Given the description of an element on the screen output the (x, y) to click on. 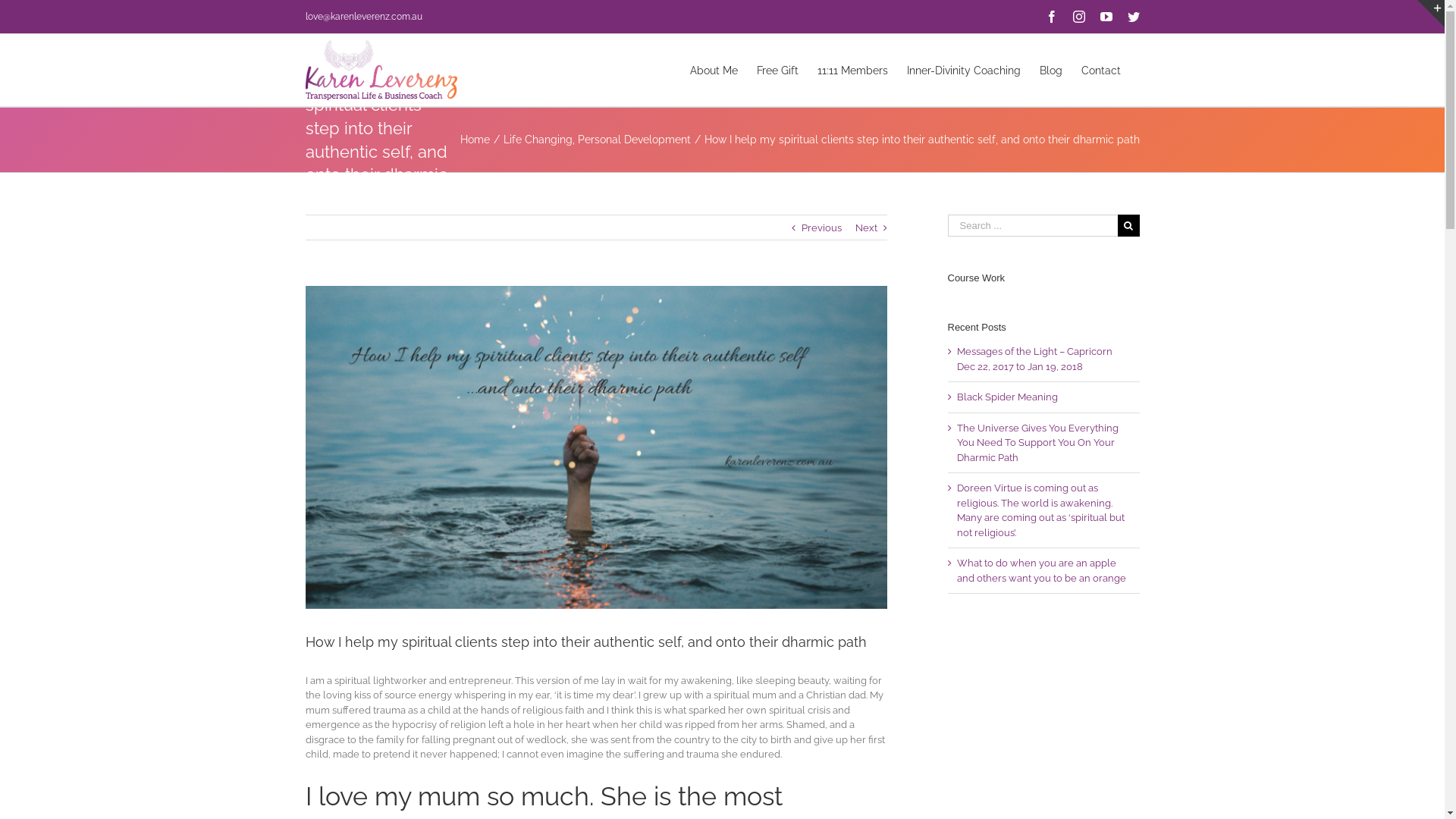
Facebook Element type: text (1050, 16)
Free Gift Element type: text (777, 69)
Black Spider Meaning Element type: text (1007, 396)
Toggle Sliding Bar Area Element type: text (1430, 13)
Twitter Element type: text (1132, 16)
Life Changing Element type: text (537, 139)
About Me Element type: text (713, 69)
YouTube Element type: text (1105, 16)
Personal Development Element type: text (633, 139)
Inner-Divinity Coaching Element type: text (963, 69)
Instagram Element type: text (1078, 16)
Next Element type: text (866, 228)
Home Element type: text (474, 139)
love@karenleverenz.com.au Element type: text (362, 16)
View Larger Image Element type: text (595, 446)
Previous Element type: text (820, 228)
Blog Element type: text (1049, 69)
11:11 Members Element type: text (852, 69)
Contact Element type: text (1100, 69)
